Given the description of an element on the screen output the (x, y) to click on. 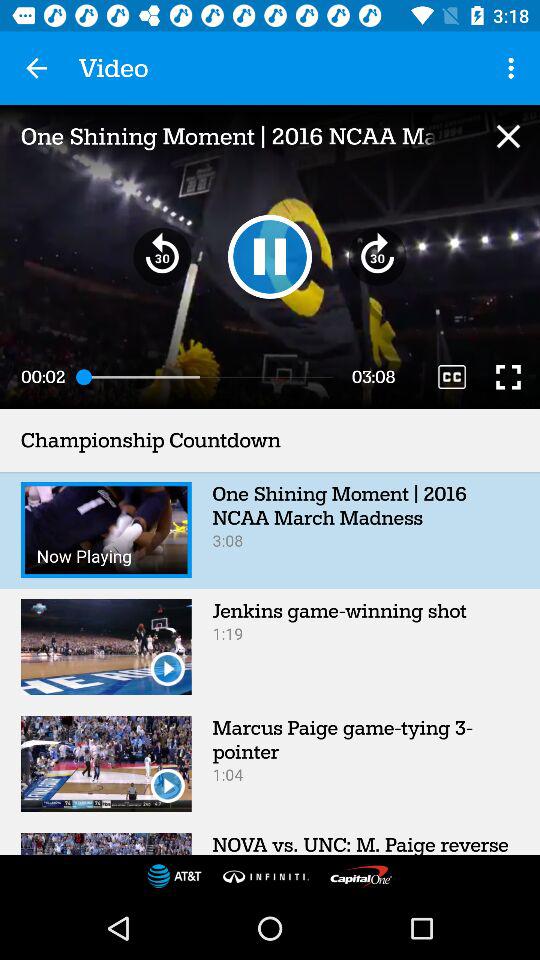
open the item to the left of the video app (36, 68)
